Given the description of an element on the screen output the (x, y) to click on. 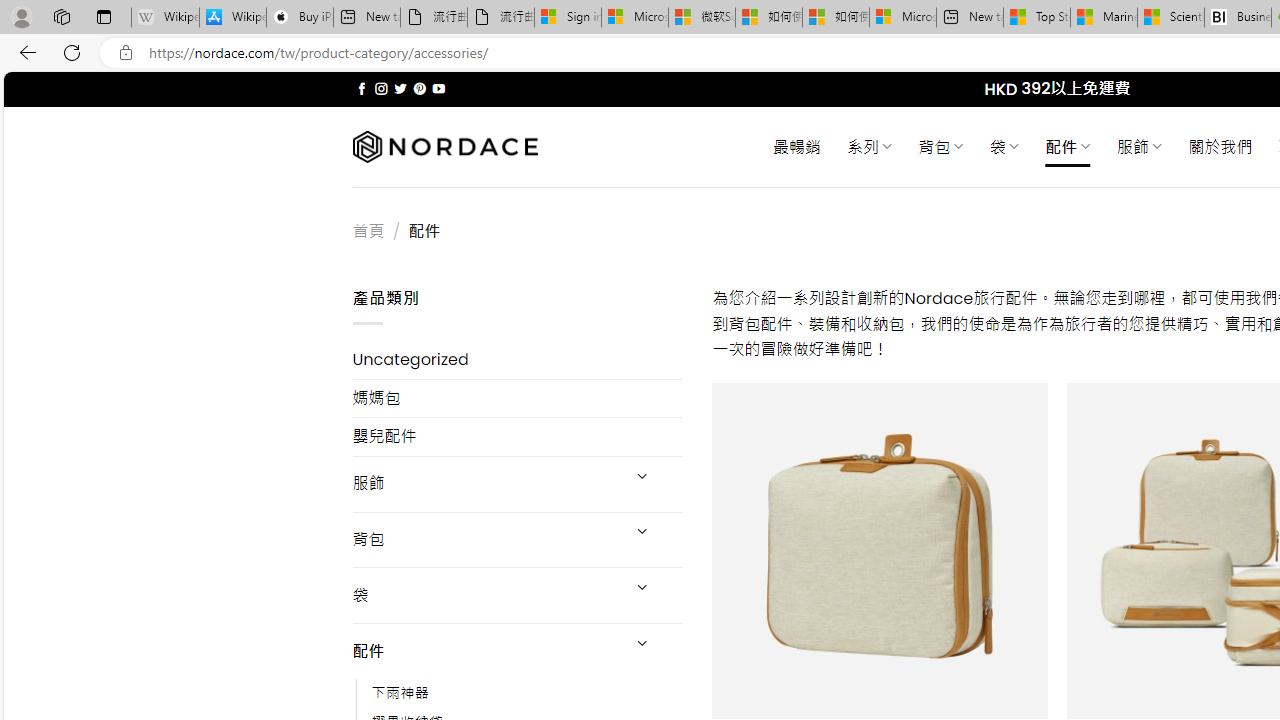
Microsoft account | Account Checkup (902, 17)
Marine life - MSN (1103, 17)
Uncategorized (517, 359)
Sign in to your Microsoft account (568, 17)
Follow on YouTube (438, 88)
Top Stories - MSN (1036, 17)
